Given the description of an element on the screen output the (x, y) to click on. 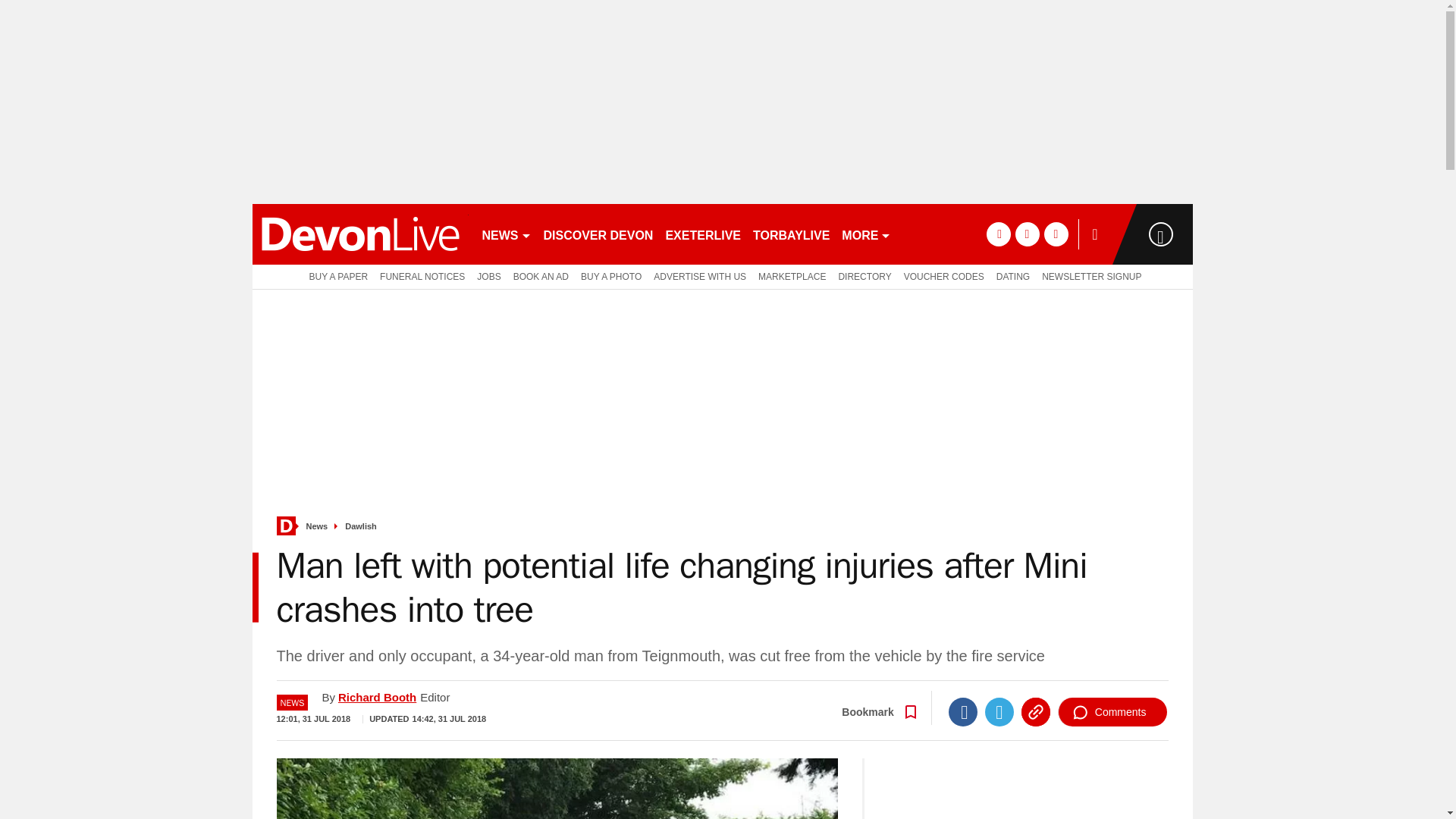
Facebook (962, 711)
instagram (1055, 233)
EXETERLIVE (702, 233)
DISCOVER DEVON (598, 233)
TORBAYLIVE (790, 233)
devonlive (359, 233)
NEWS (506, 233)
MORE (865, 233)
Twitter (999, 711)
twitter (1026, 233)
